Given the description of an element on the screen output the (x, y) to click on. 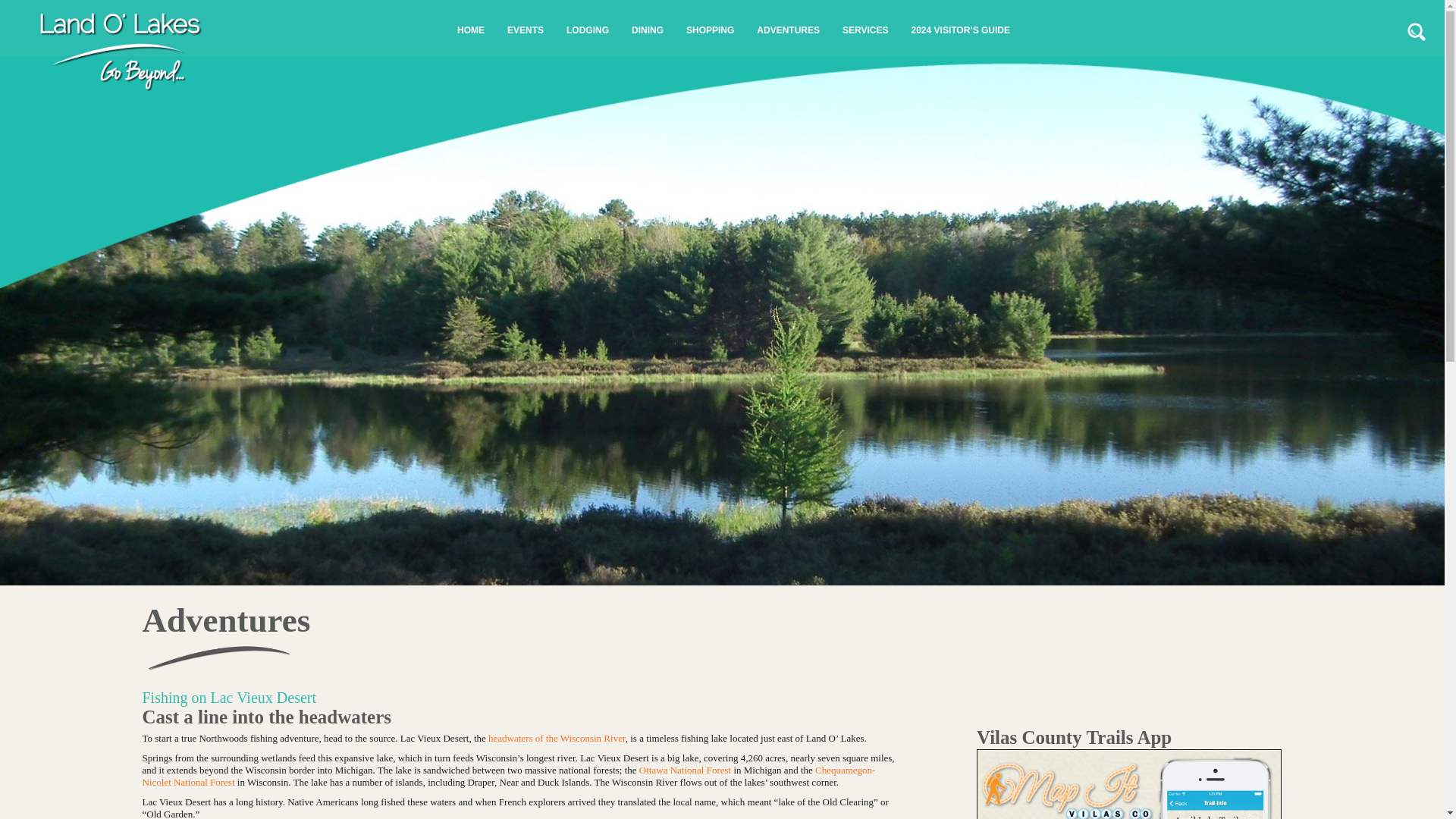
Chequamegon-Nicolet National Forest (509, 775)
Vilas County Trails App (1128, 773)
LODGING (587, 30)
DINING (647, 30)
EVENTS (524, 30)
Ottawa National Forest (684, 769)
headwaters of the Wisconsin River (556, 737)
HOME (470, 30)
ADVENTURES (788, 30)
SERVICES (865, 30)
Search efter: (1416, 31)
SHOPPING (709, 30)
